Given the description of an element on the screen output the (x, y) to click on. 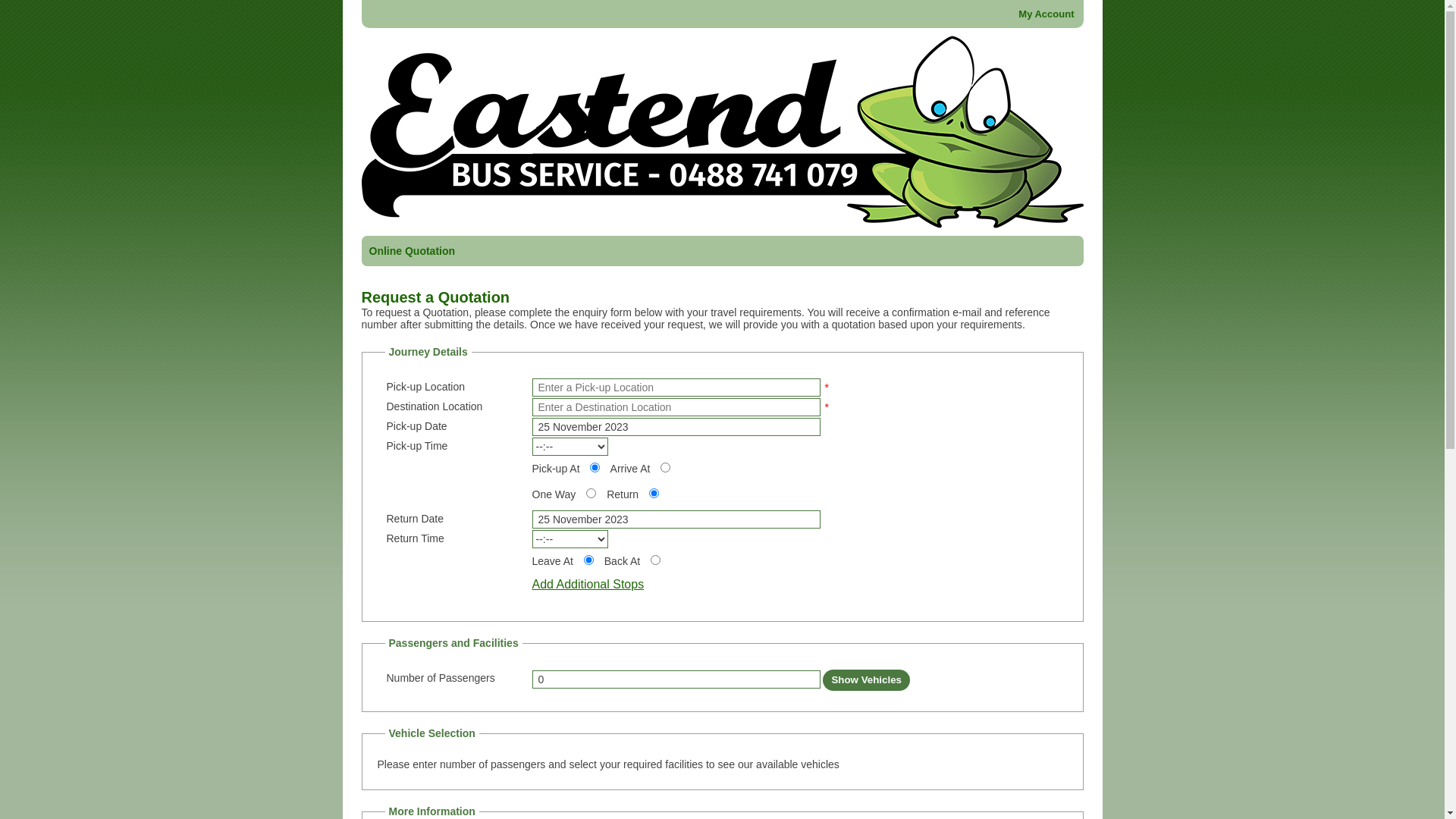
My Account Element type: text (1045, 13)
Online Quotation Element type: text (410, 250)
Add Additional Stops Element type: text (588, 583)
Show Vehicles Element type: text (866, 679)
